Given the description of an element on the screen output the (x, y) to click on. 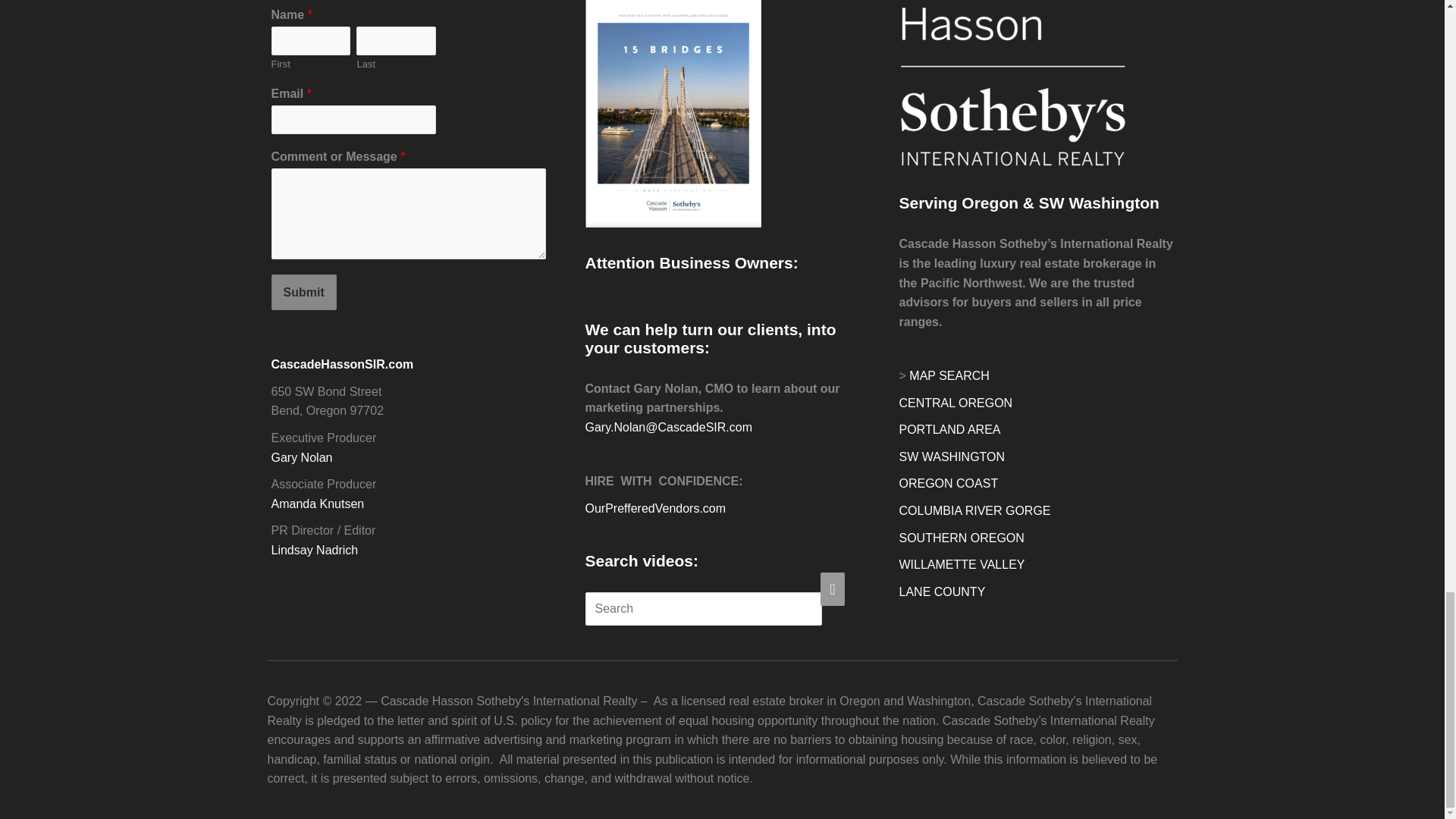
CENTRAL OREGON (956, 402)
PORTLAND AREA (950, 429)
Submit (303, 292)
SW WASHINGTON (952, 456)
Lindsay Nadrich (314, 549)
OurPrefferedVendors.com (655, 508)
MAP SEARCH (949, 375)
CascadeHassonSIR.com (341, 364)
Amanda Knutsen (317, 503)
Gary Nolan (301, 457)
